Given the description of an element on the screen output the (x, y) to click on. 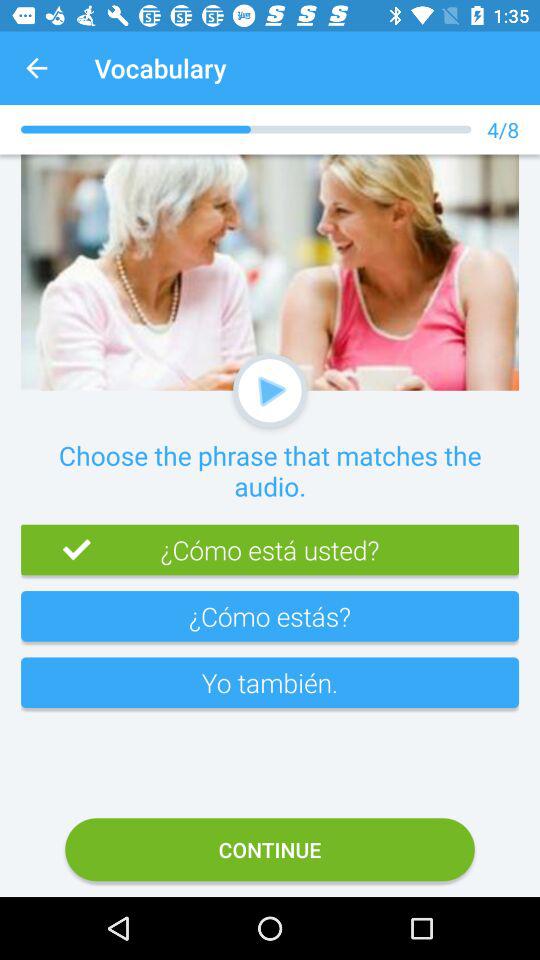
choose the continue icon (269, 849)
